Given the description of an element on the screen output the (x, y) to click on. 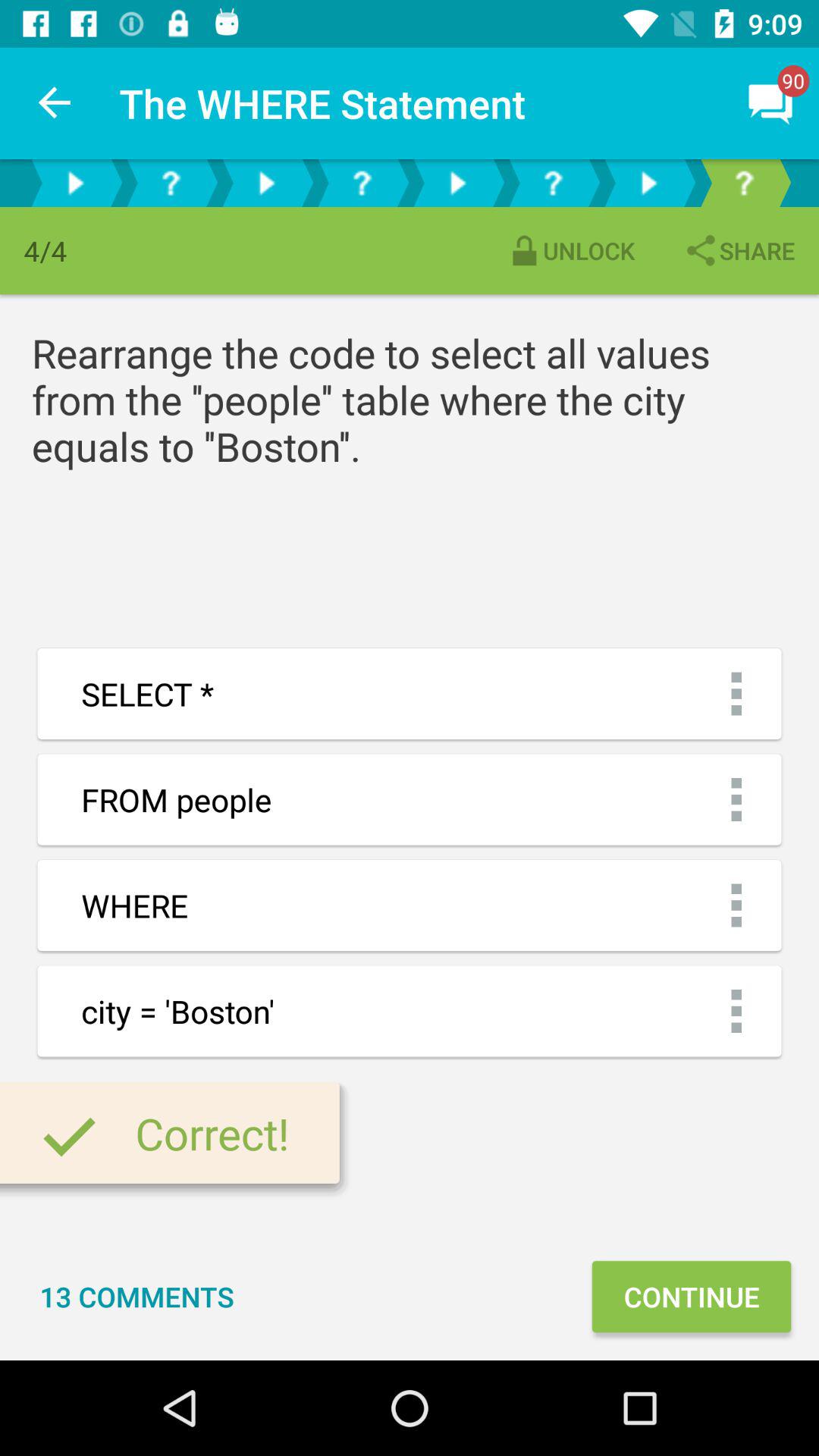
go to next page (265, 183)
